Given the description of an element on the screen output the (x, y) to click on. 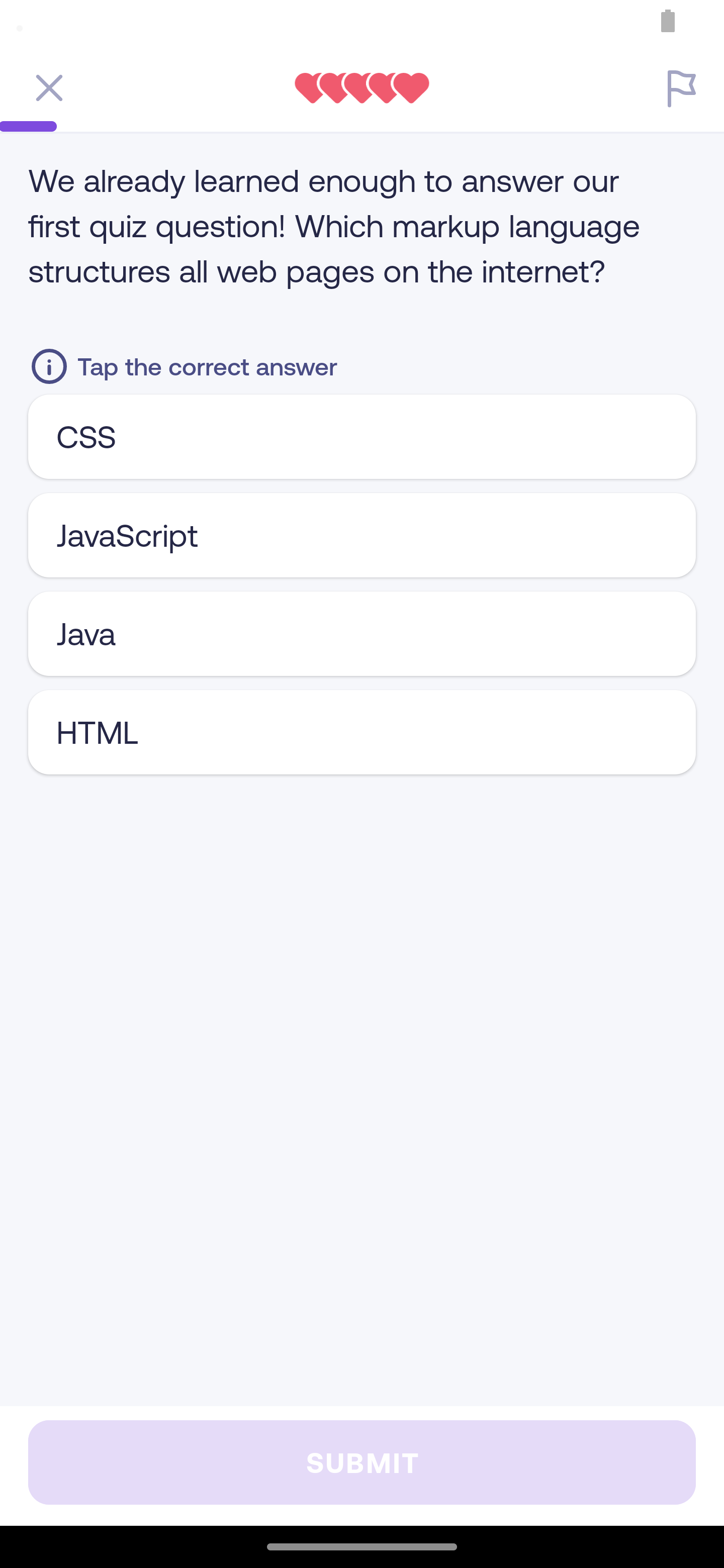
CSS (361, 436)
JavaScript (361, 534)
Java (361, 633)
HTML (361, 731)
SUBMIT (361, 1462)
